Given the description of an element on the screen output the (x, y) to click on. 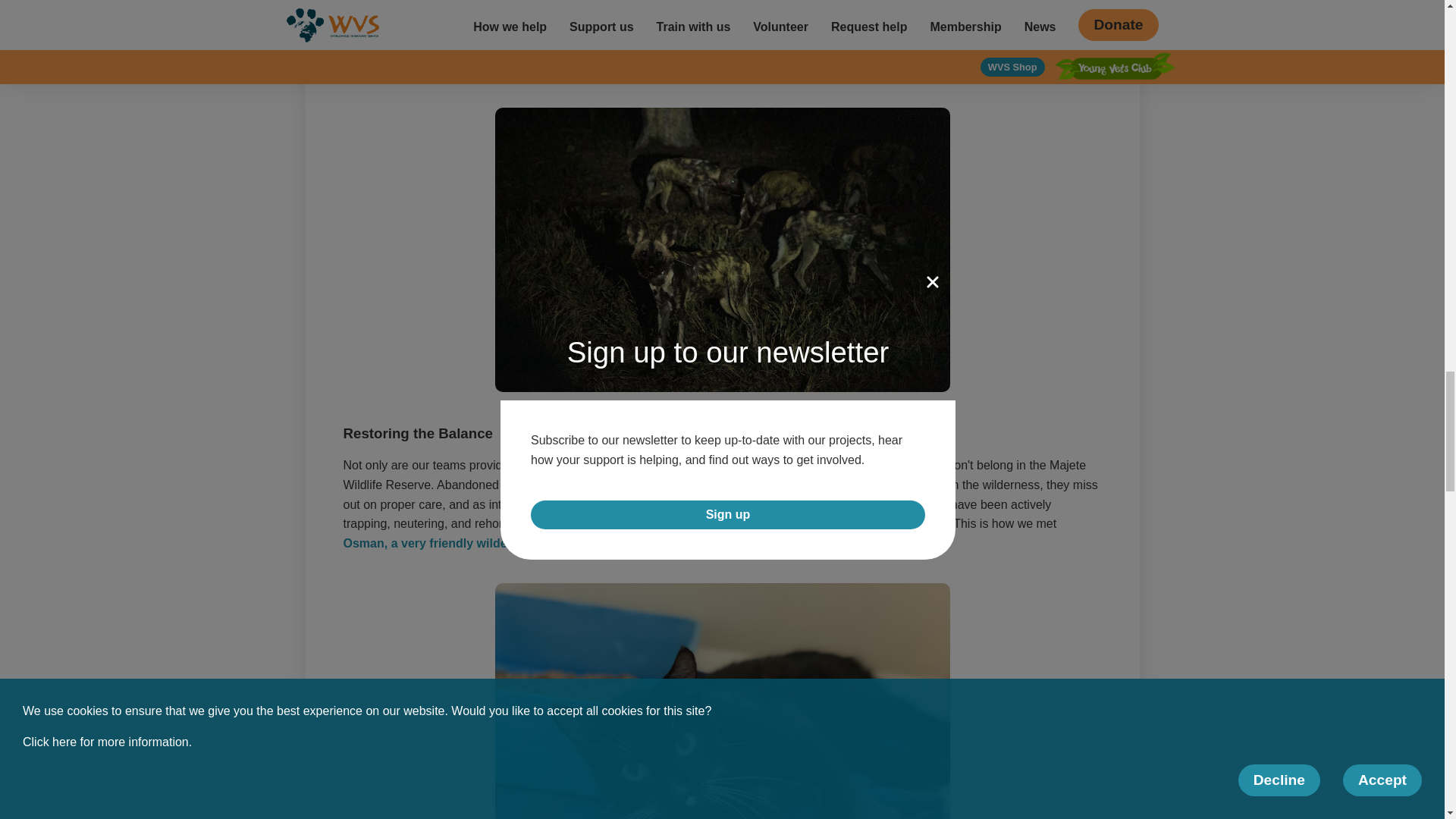
Osman, a very friendly wilderness cat (450, 543)
